Given the description of an element on the screen output the (x, y) to click on. 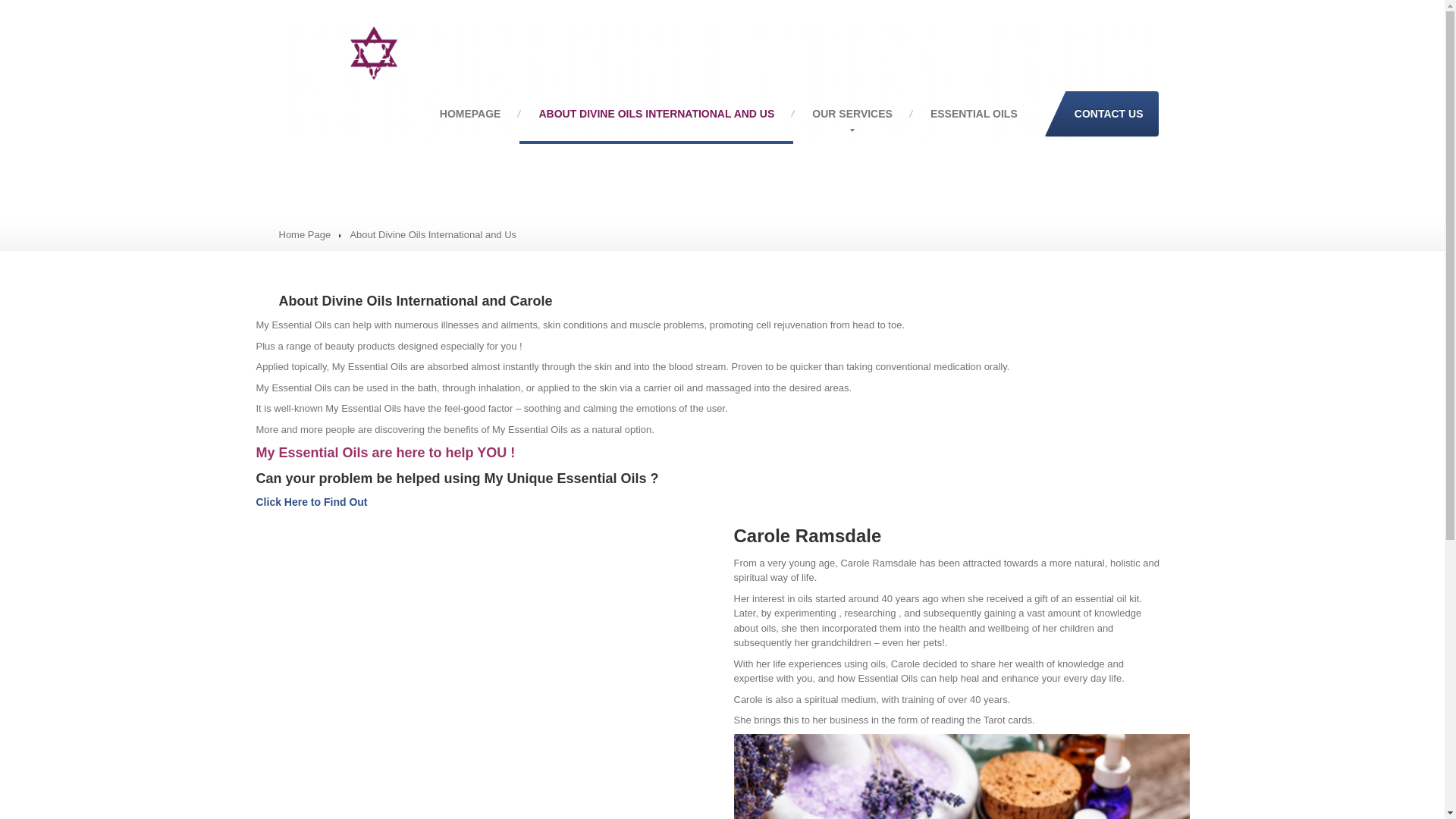
HOMEPAGE (469, 113)
Click Here to Find Out (312, 501)
CONTACT US (1100, 113)
Can your problem be helped? (312, 501)
Home Page (305, 234)
ESSENTIAL OILS (973, 113)
OUR SERVICES (852, 113)
ABOUT DIVINE OILS INTERNATIONAL AND US (656, 113)
